Given the description of an element on the screen output the (x, y) to click on. 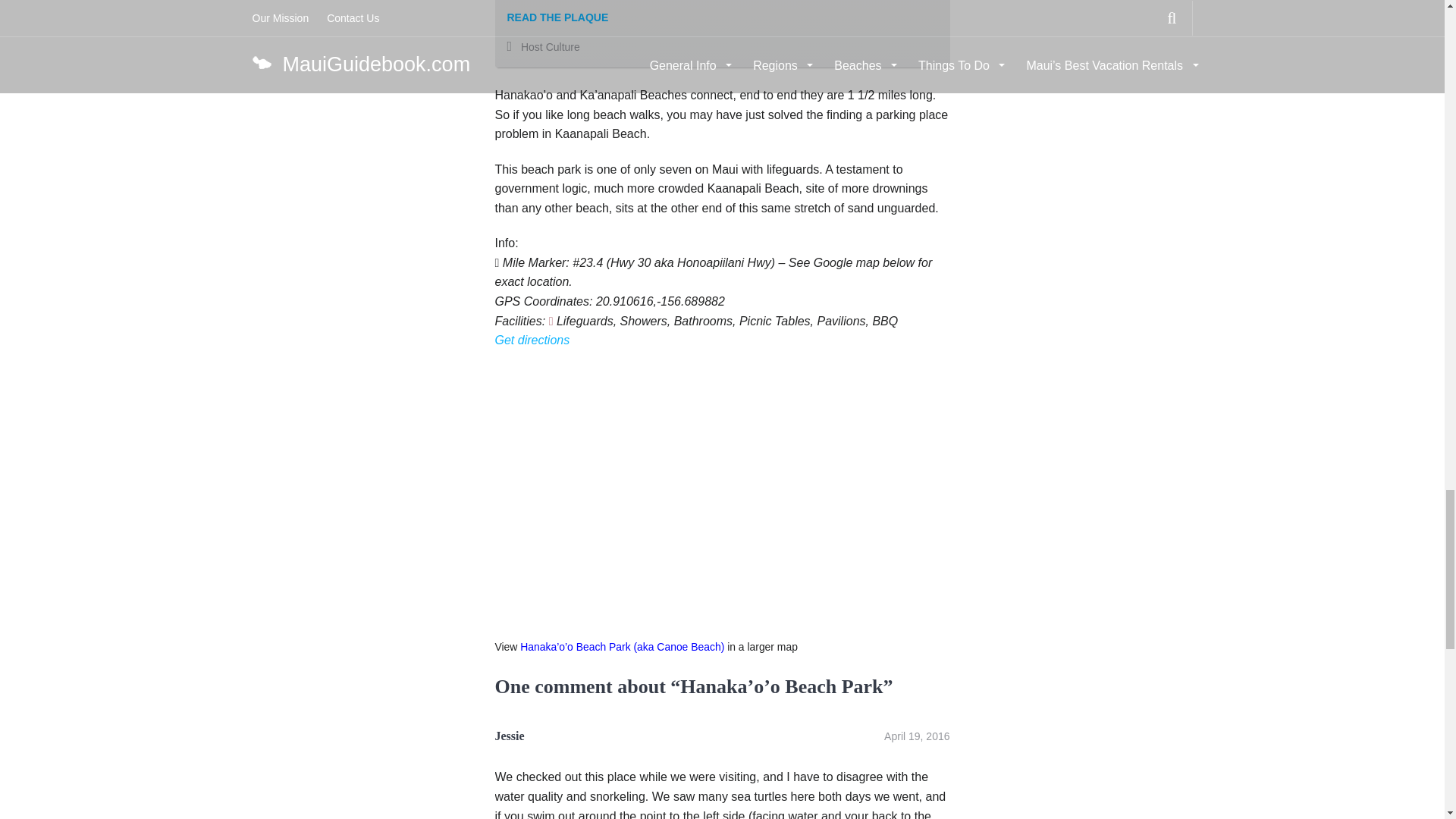
Get directions (532, 339)
